Given the description of an element on the screen output the (x, y) to click on. 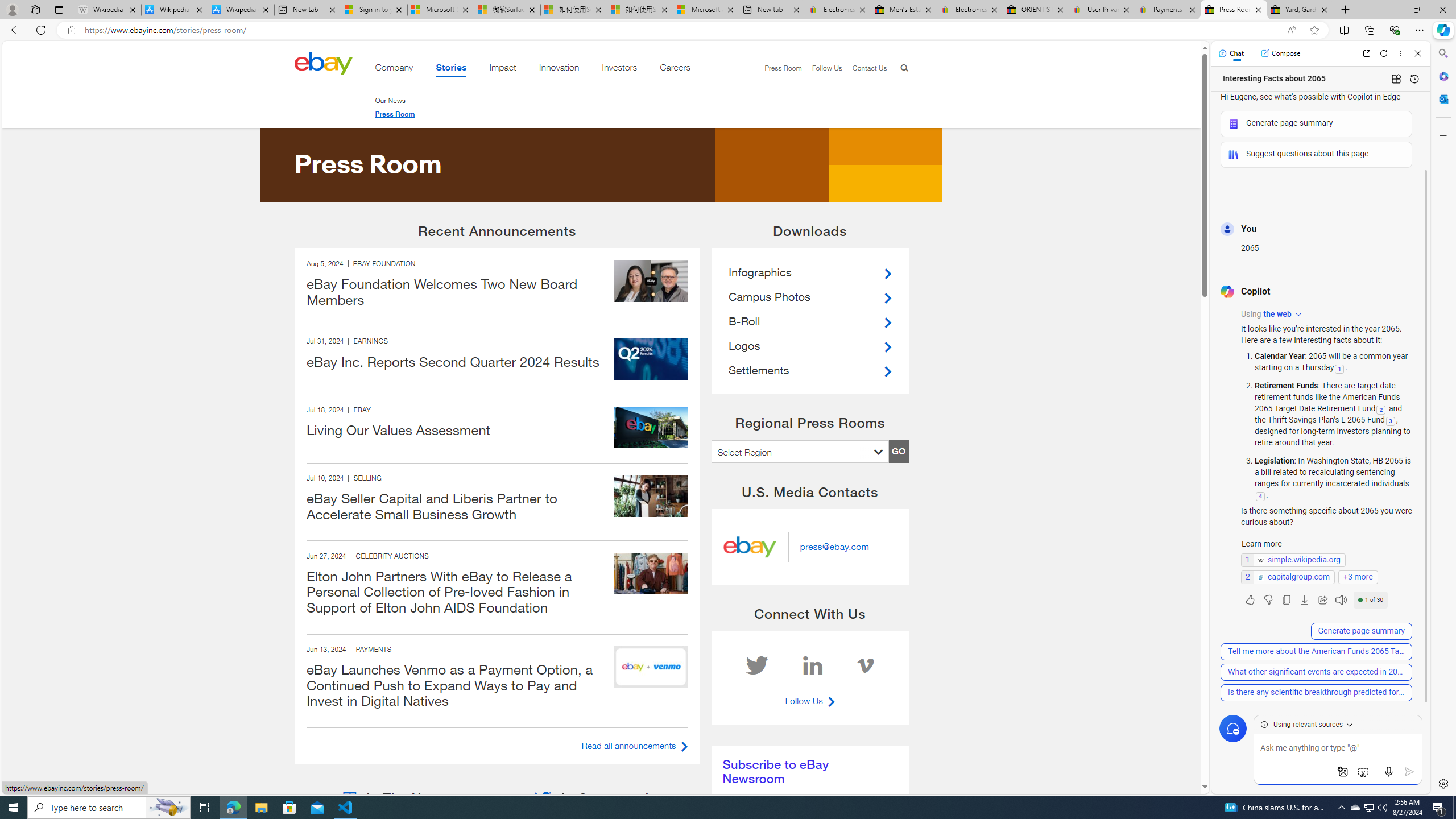
Our News (390, 99)
Investors (619, 69)
Q2 2024 Results (650, 358)
Press Room (394, 113)
